Given the description of an element on the screen output the (x, y) to click on. 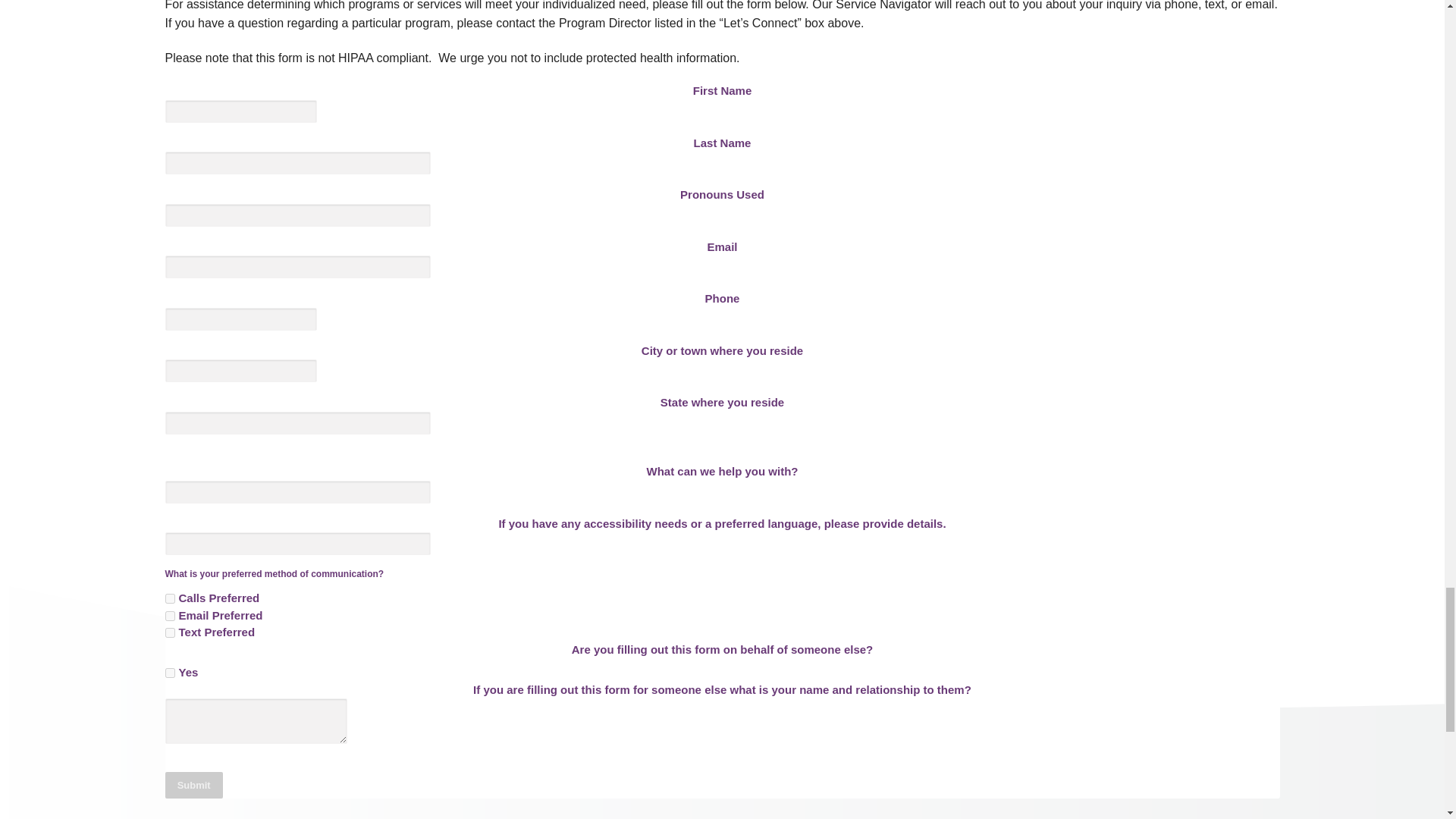
Submit (193, 784)
